Given the description of an element on the screen output the (x, y) to click on. 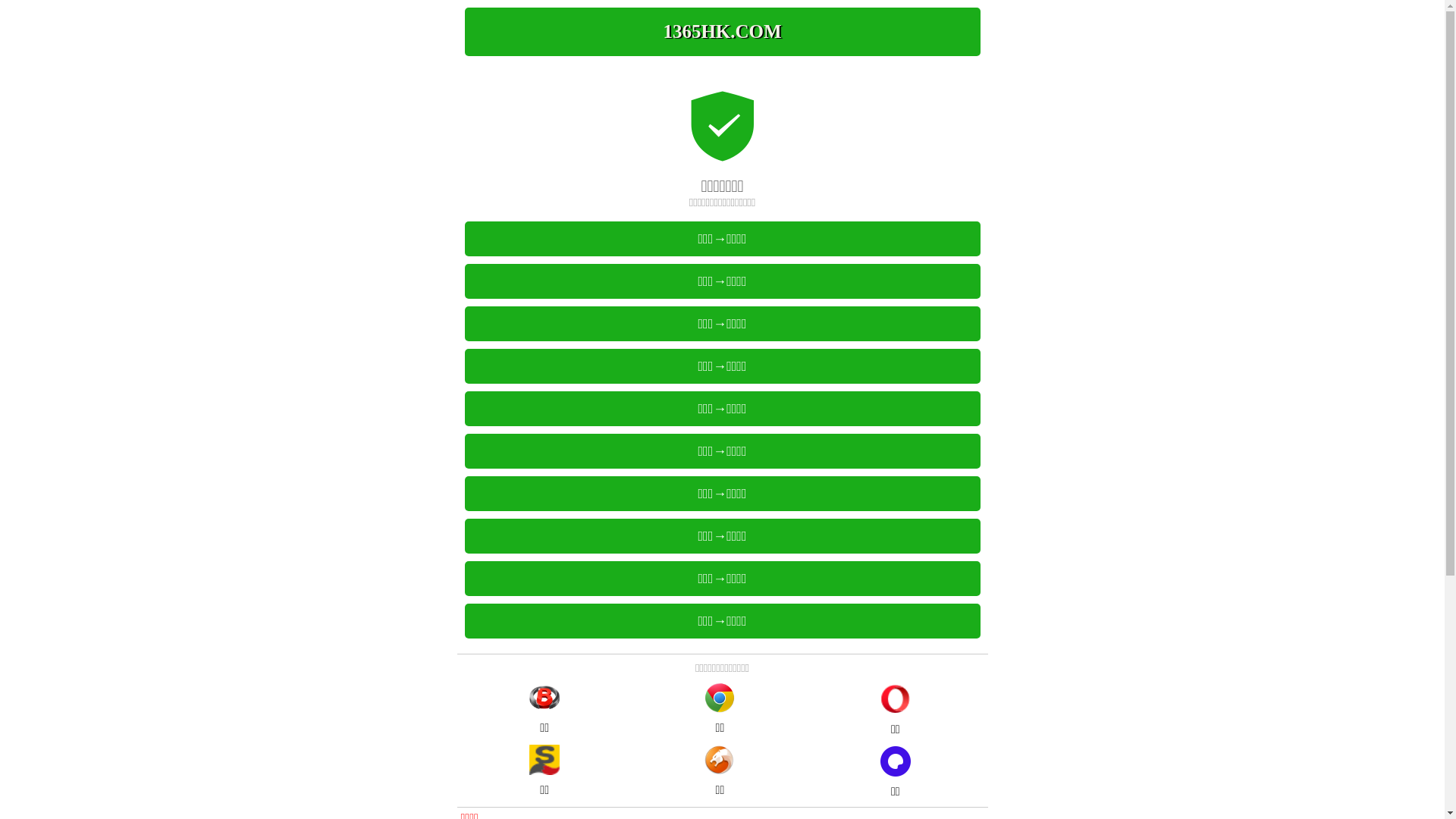
1365HK.COM Element type: text (721, 31)
